Given the description of an element on the screen output the (x, y) to click on. 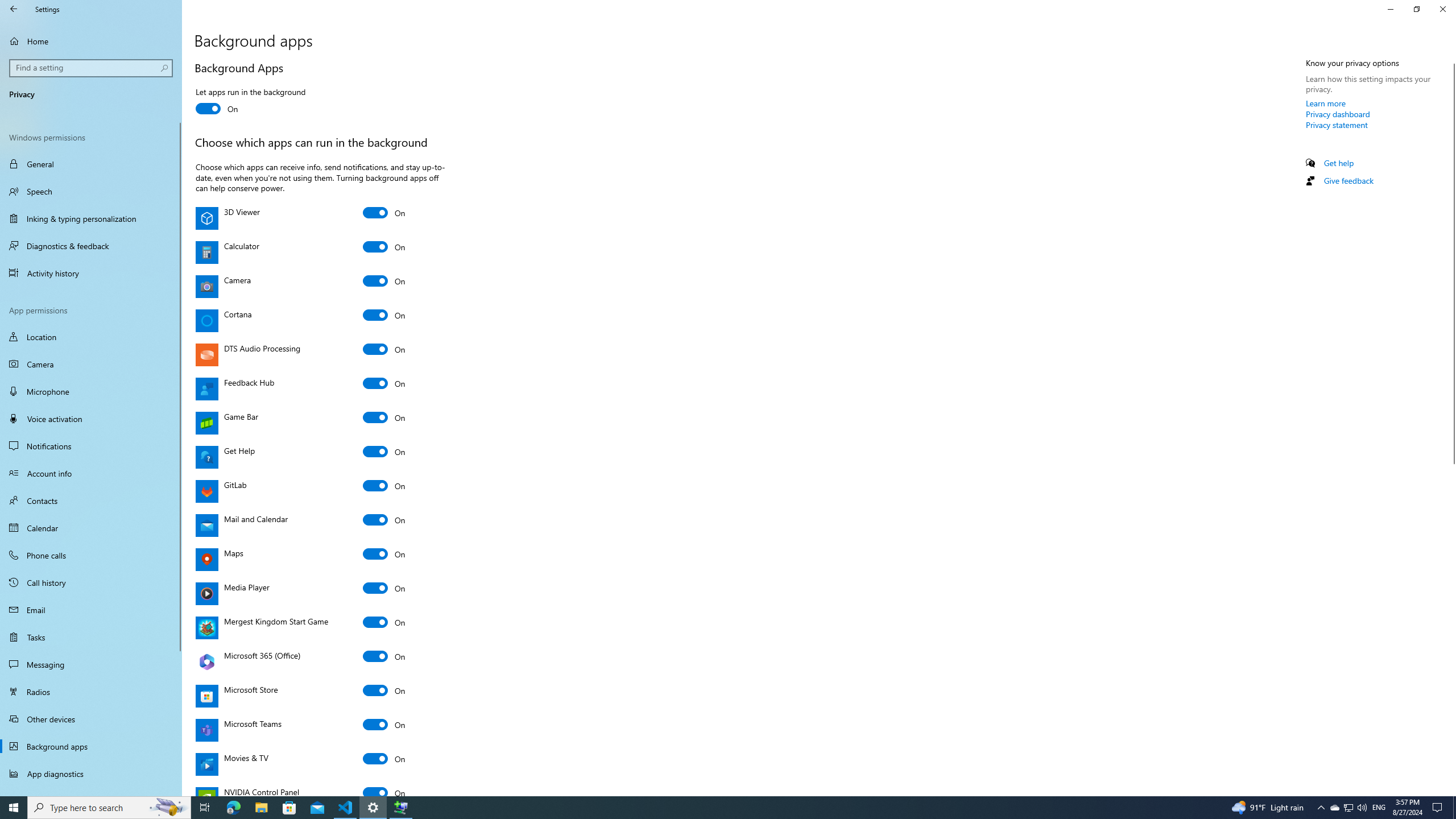
Type here to search (108, 807)
